Given the description of an element on the screen output the (x, y) to click on. 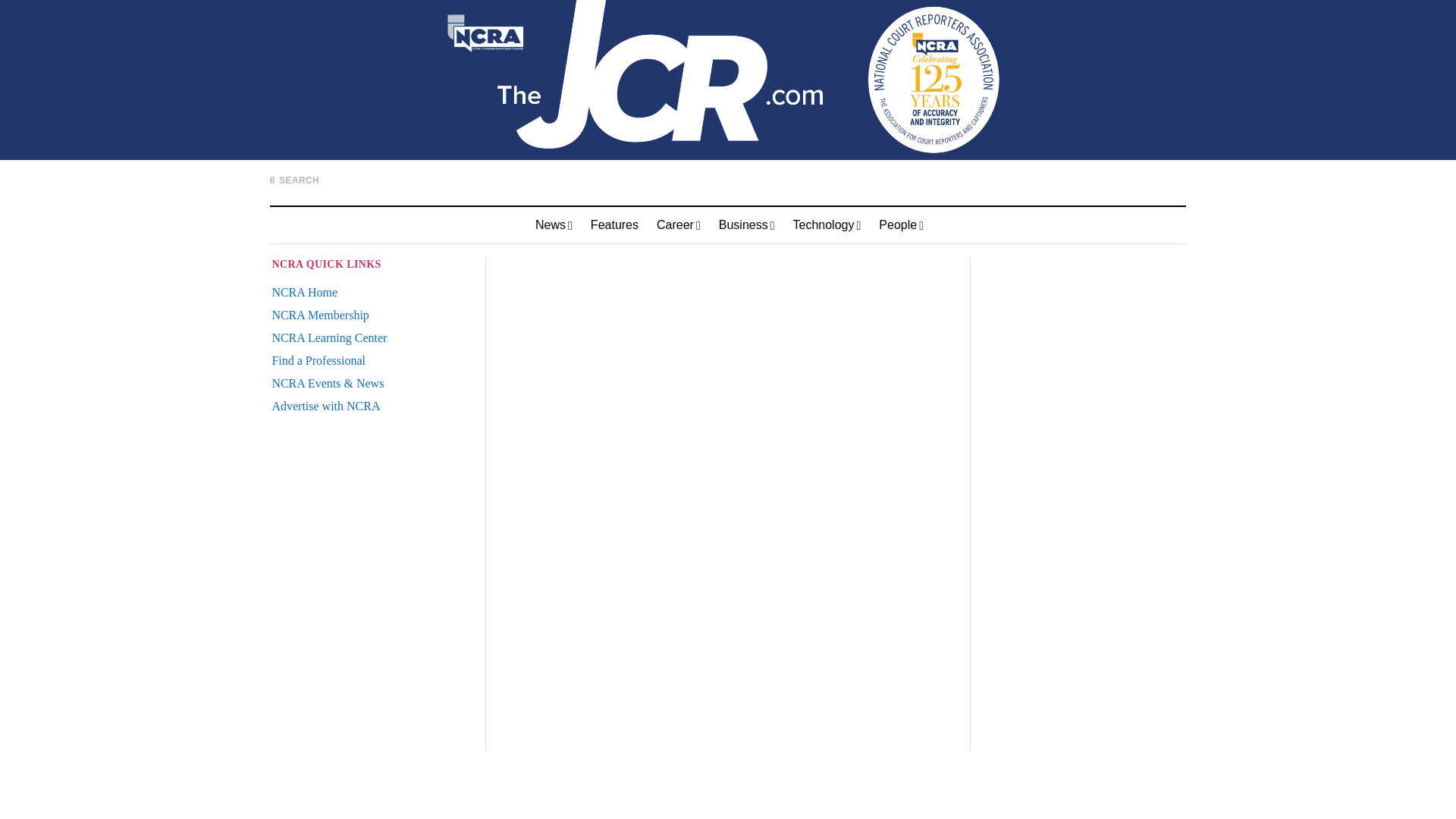
Business (747, 225)
Features (613, 225)
SEARCH (294, 180)
Search (948, 149)
News (552, 225)
Technology (827, 225)
Career (678, 225)
